Given the description of an element on the screen output the (x, y) to click on. 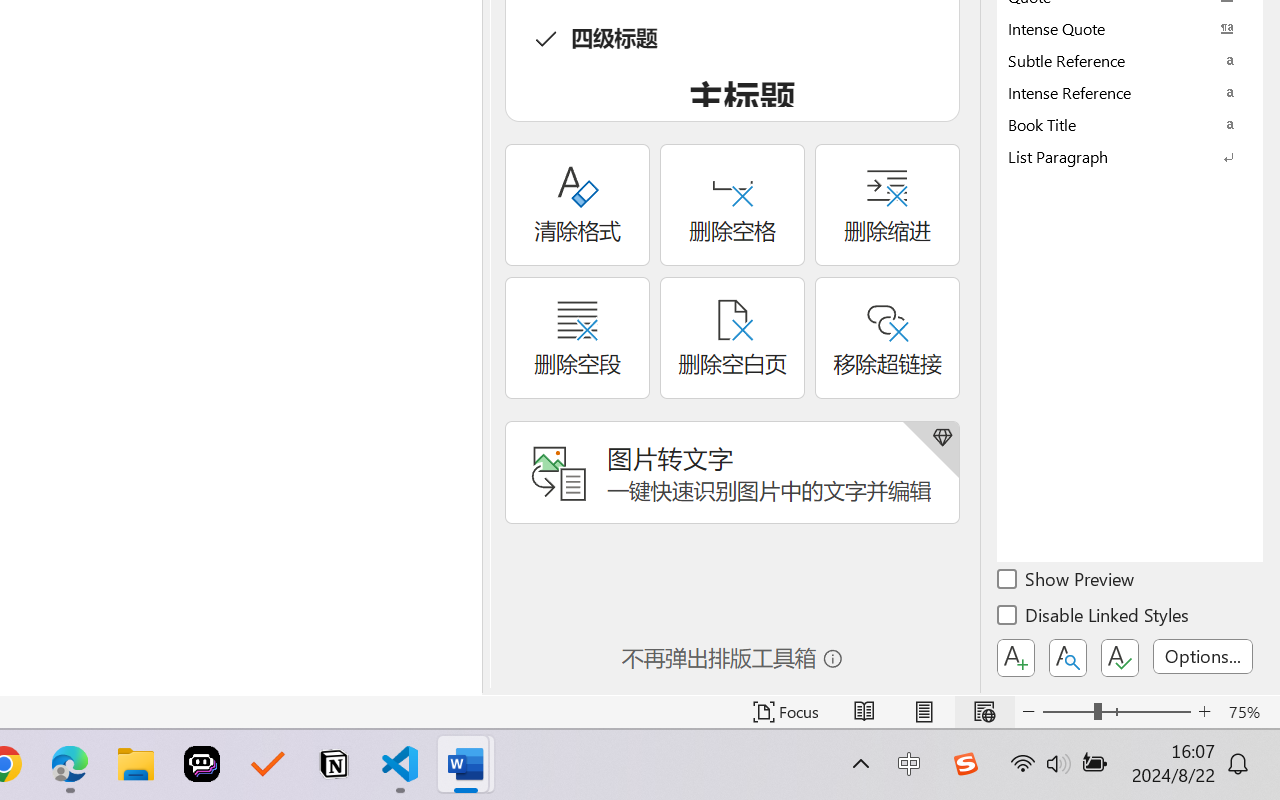
Web Layout (984, 712)
Disable Linked Styles (1094, 618)
Focus  (786, 712)
Print Layout (924, 712)
Intense Reference (1130, 92)
Show Preview (1067, 582)
Class: NetUIButton (1119, 657)
List Paragraph (1130, 156)
Options... (1203, 656)
Book Title (1130, 124)
